Given the description of an element on the screen output the (x, y) to click on. 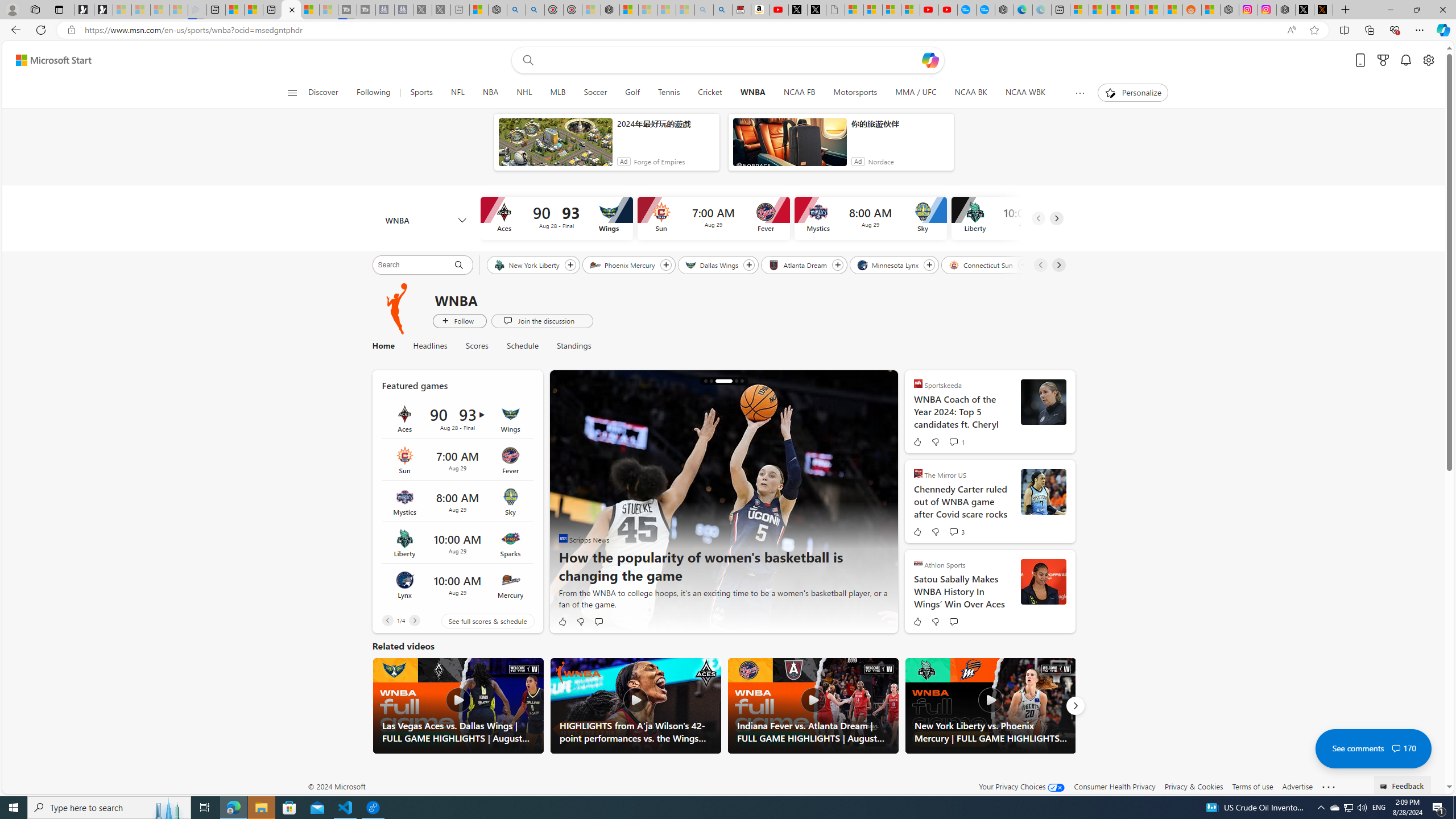
Standings (569, 345)
Motorsports (854, 92)
Follow Phoenix Mercury (665, 265)
Next (1074, 705)
Scores (477, 345)
The Mirror US (917, 473)
NCAA WBK (1024, 92)
Headlines (429, 345)
